Given the description of an element on the screen output the (x, y) to click on. 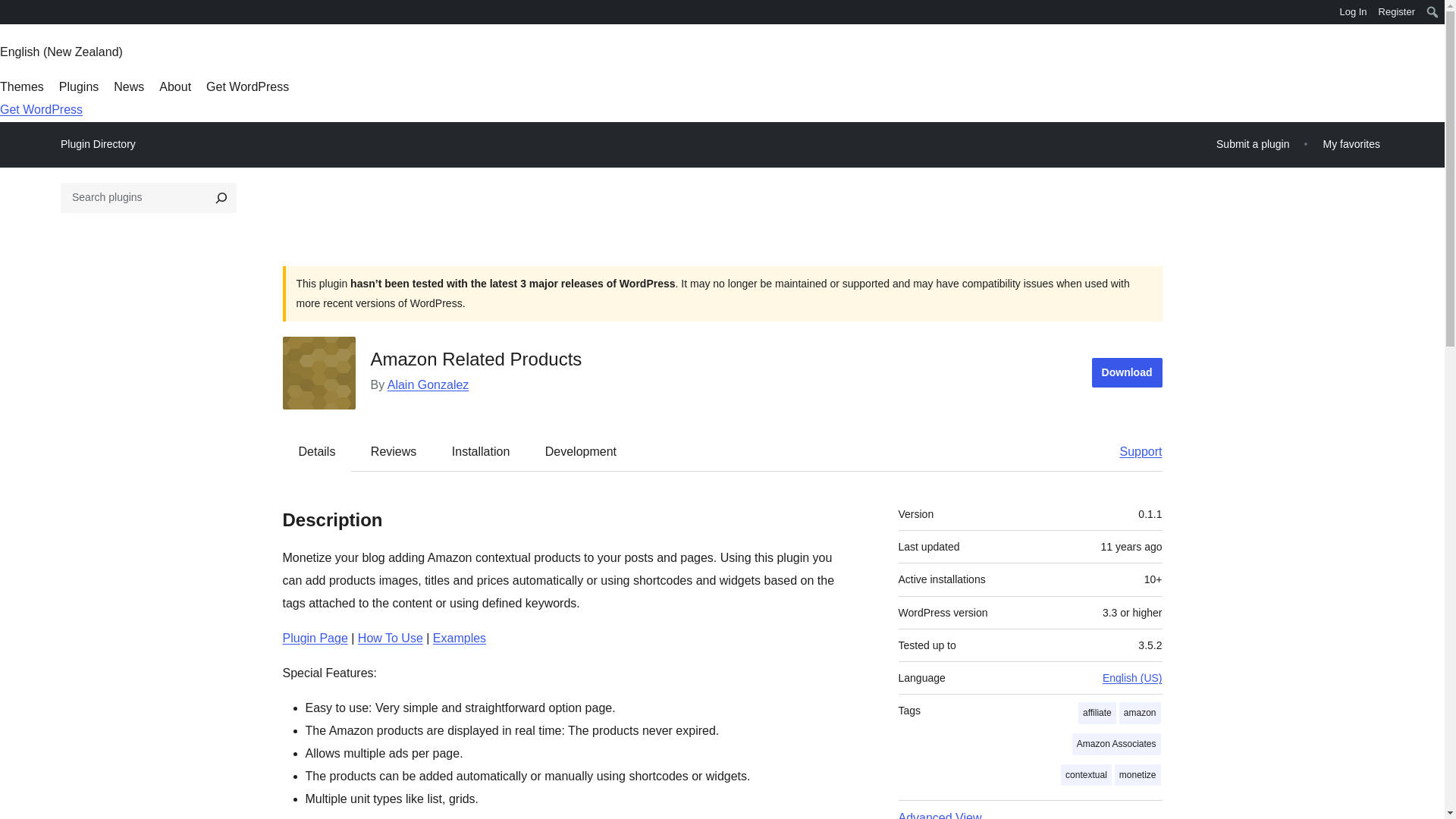
Reviews (392, 451)
Register (1397, 12)
Get WordPress (41, 109)
My favorites (1351, 144)
Details (316, 451)
Plugin Page (314, 637)
About (174, 87)
Log In (1353, 12)
Submit a plugin (1253, 144)
Themes (21, 87)
How To Use (390, 637)
Search (16, 13)
Installation (480, 451)
Development (580, 451)
Get WordPress (247, 87)
